Given the description of an element on the screen output the (x, y) to click on. 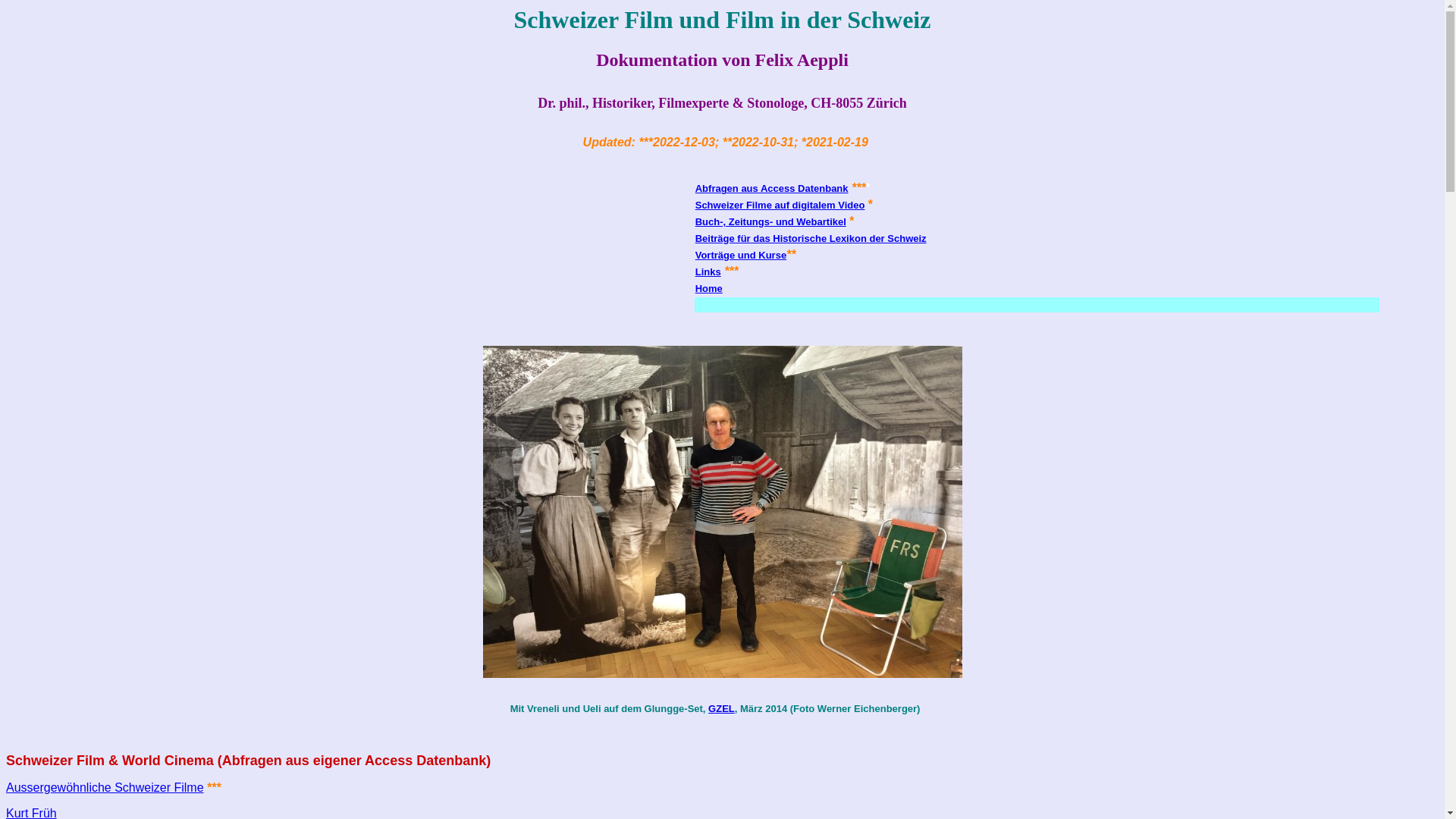
Abfragen aus Access Datenbank Element type: text (771, 188)
Schweizer Filme auf digitalem Video Element type: text (780, 204)
GZEL Element type: text (721, 708)
Felix Aeppli auf dem Glunngge-Set, 2014 Element type: hover (721, 511)
Buch-, Zeitungs- und Webartikel Element type: text (770, 221)
Links Element type: text (708, 271)
Home Element type: text (708, 288)
